Given the description of an element on the screen output the (x, y) to click on. 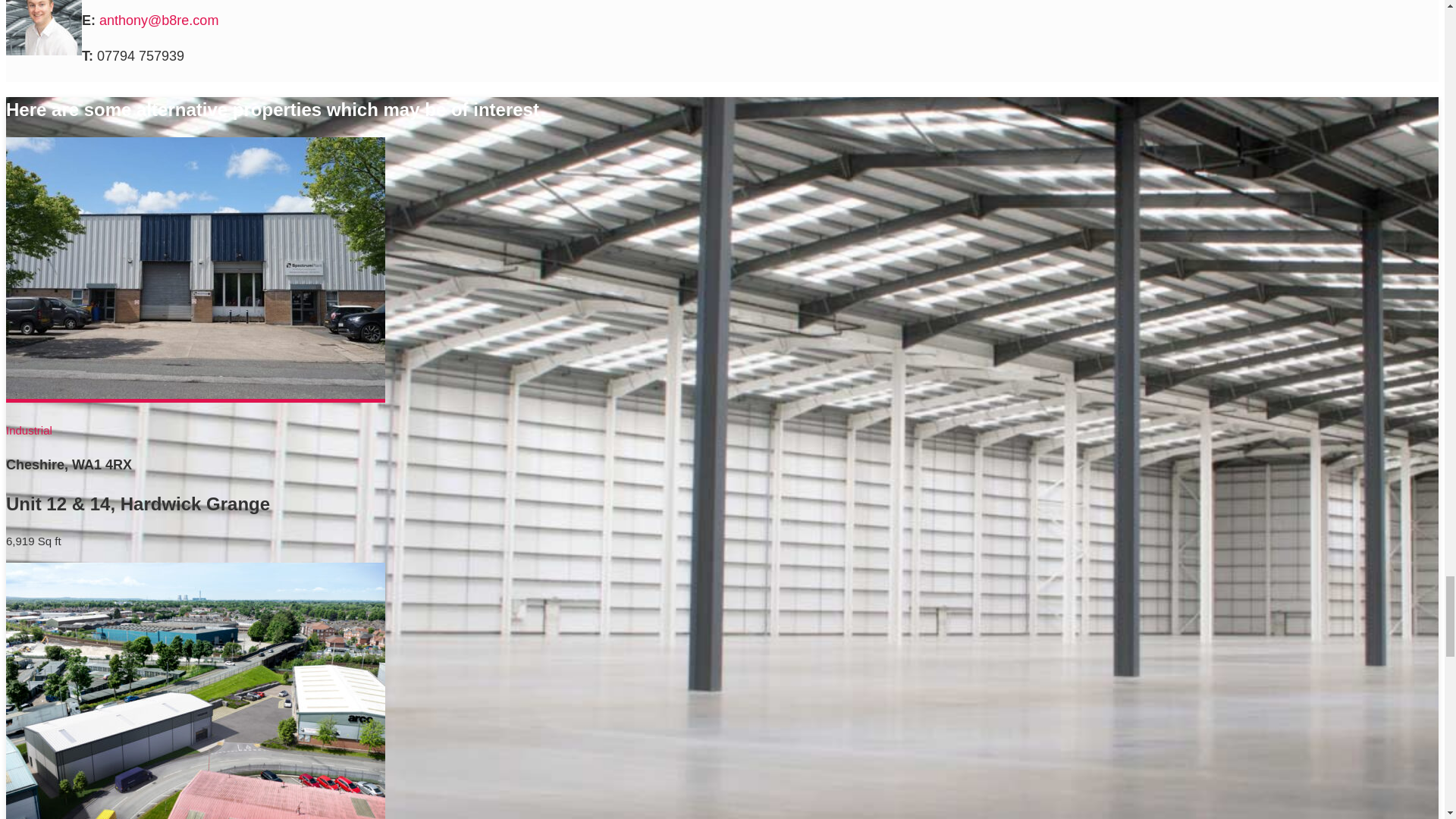
Anthony Mellor (43, 27)
